Given the description of an element on the screen output the (x, y) to click on. 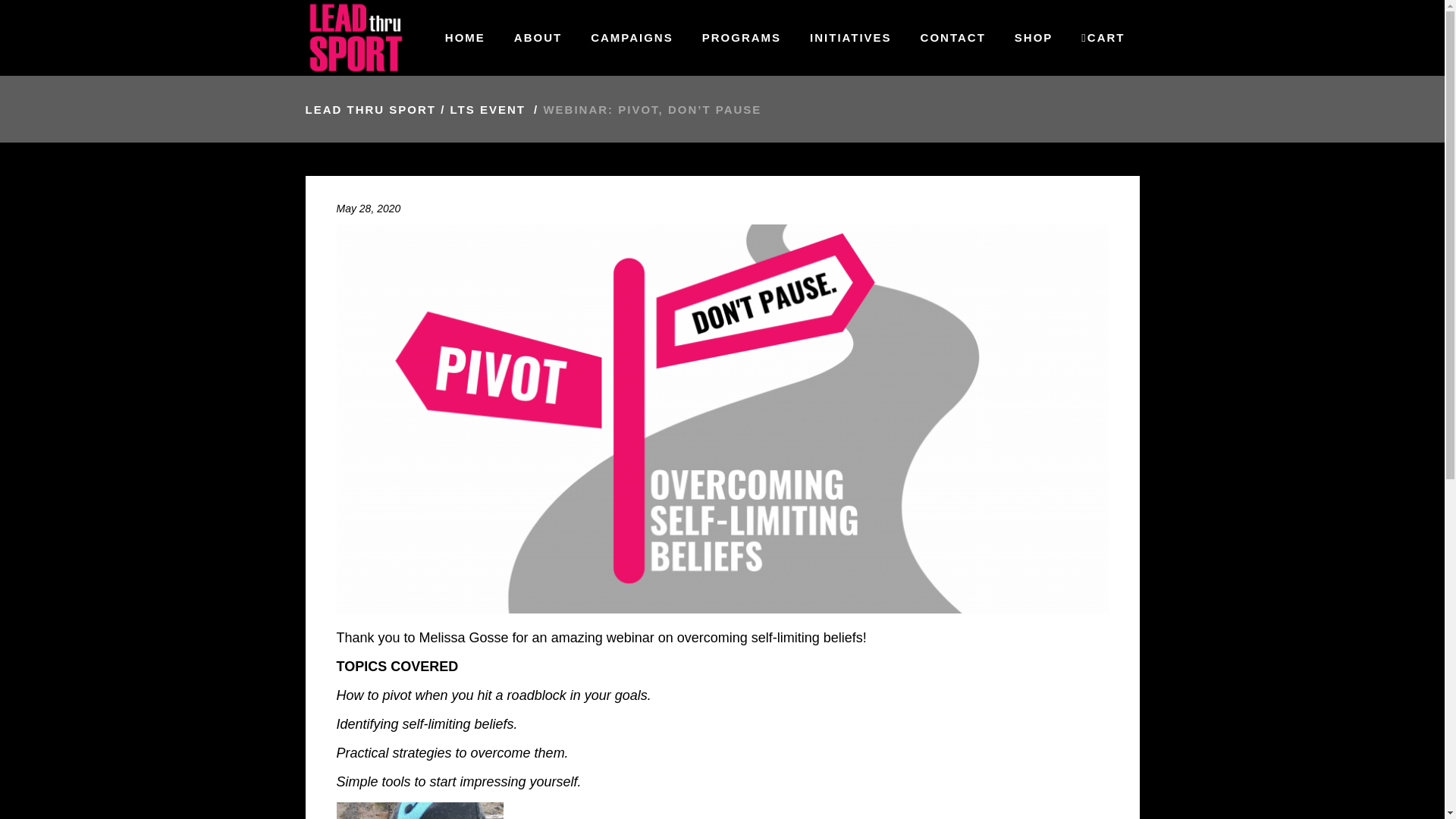
SHOP (1033, 38)
CART (1102, 38)
PROGRAMS (740, 38)
CAMPAIGNS (631, 38)
ABOUT (537, 38)
CONTACT (952, 38)
HOME (464, 38)
INITIATIVES (849, 38)
